Given the description of an element on the screen output the (x, y) to click on. 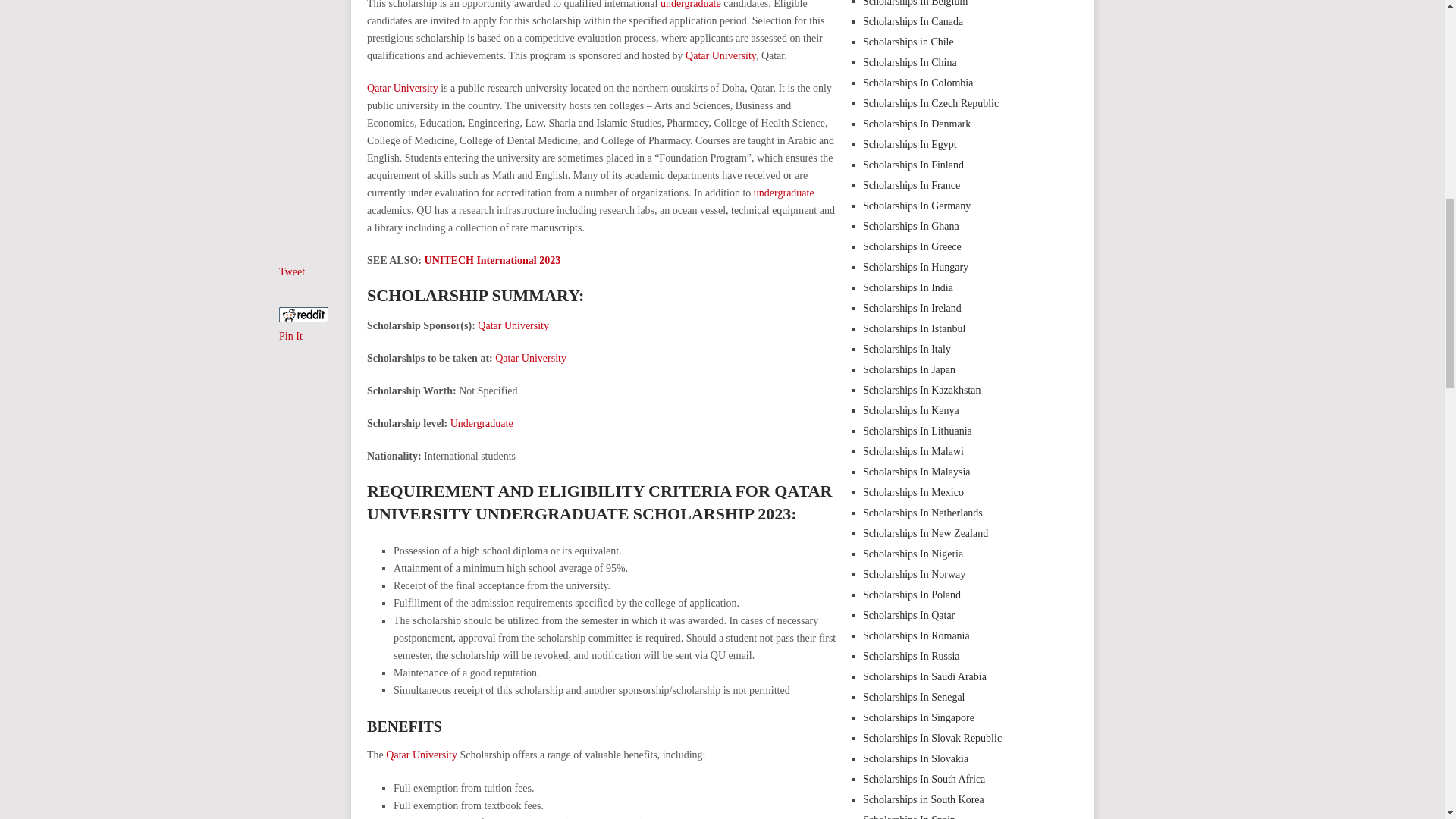
undergraduate (690, 4)
Qatar University (402, 88)
UNITECH International 2023 (492, 260)
Qatar University (530, 357)
Undergraduate (481, 423)
Qatar University (512, 325)
undergraduate (783, 193)
Qatar University (421, 754)
Qatar University (720, 55)
